Given the description of an element on the screen output the (x, y) to click on. 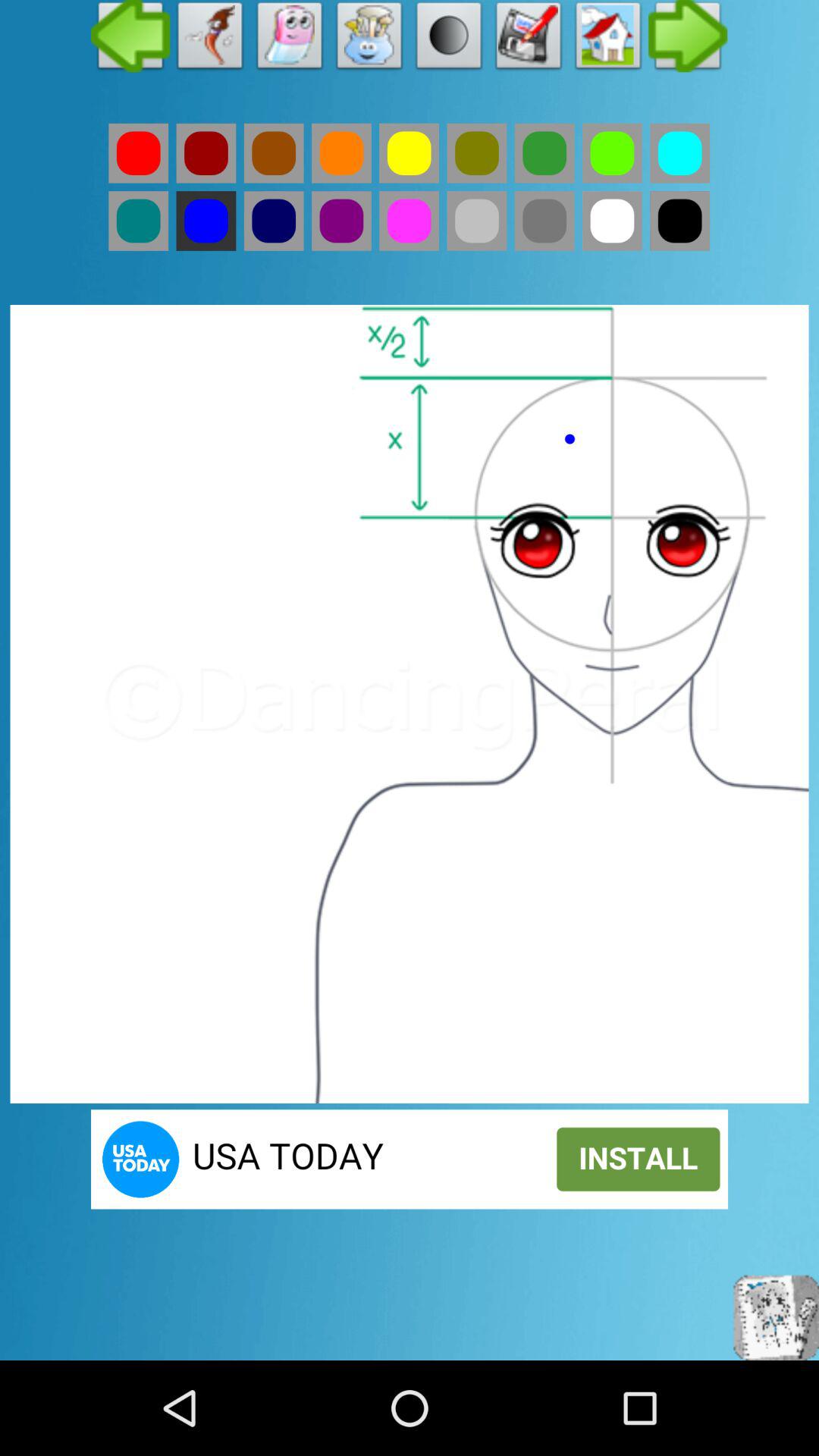
backward button (130, 39)
